Given the description of an element on the screen output the (x, y) to click on. 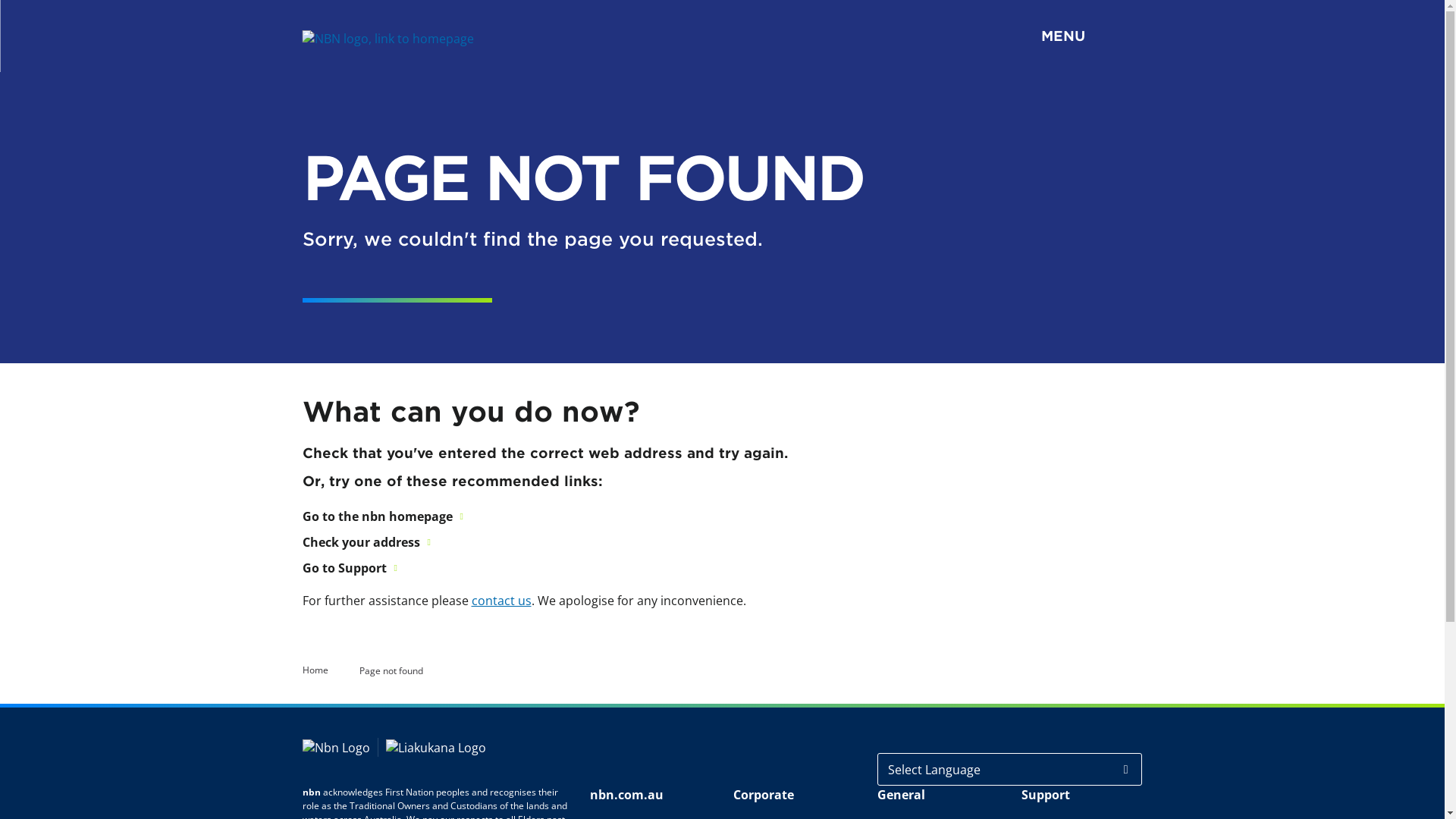
Go to the nbn homepage Element type: text (381, 516)
Page not found Element type: text (391, 671)
Home Element type: text (314, 669)
contact us Element type: text (501, 600)
Go to Support Element type: text (348, 567)
Check your address Element type: text (365, 542)
MENU Element type: text (786, 36)
